Given the description of an element on the screen output the (x, y) to click on. 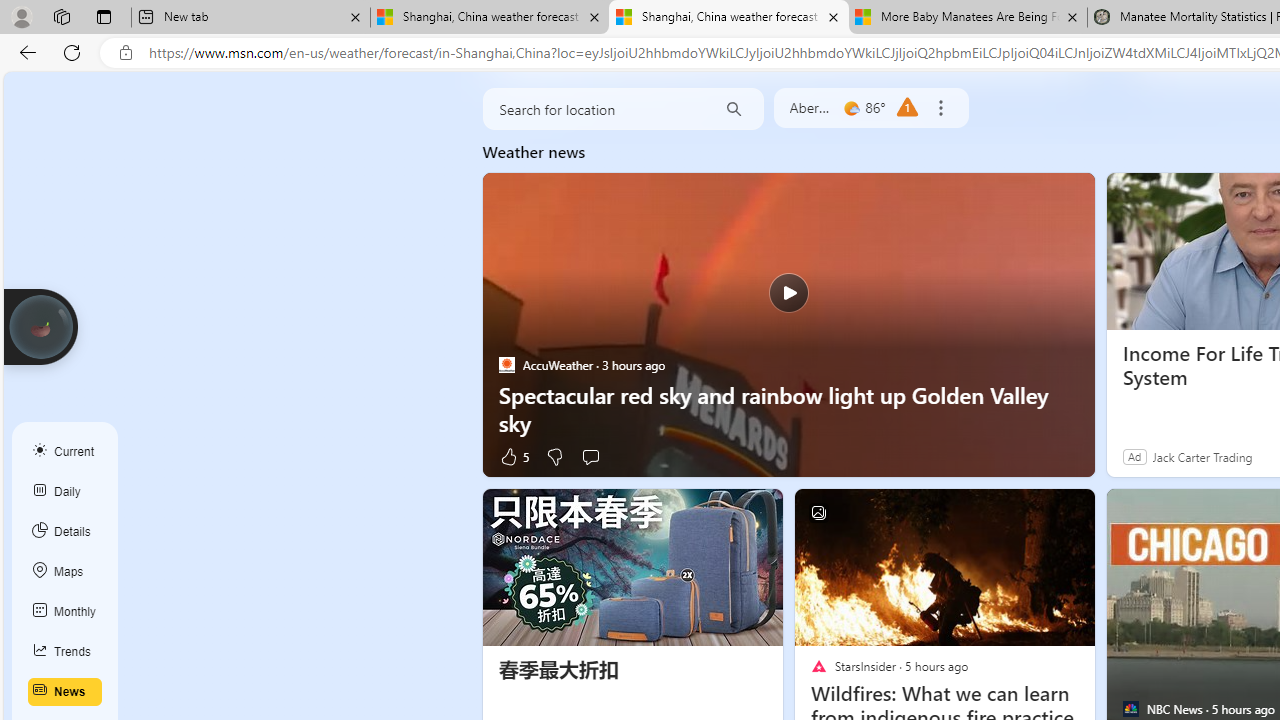
Current (65, 451)
Join us in planting real trees to help our planet! (40, 325)
Spectacular red sky and rainbow light up Golden Valley sky (788, 408)
Monthly (65, 611)
Maps (65, 572)
Spectacular red sky and rainbow light up Golden Valley sky (788, 324)
News (65, 692)
Aberdeen (811, 107)
Daily (65, 492)
5 Like (513, 456)
